Given the description of an element on the screen output the (x, y) to click on. 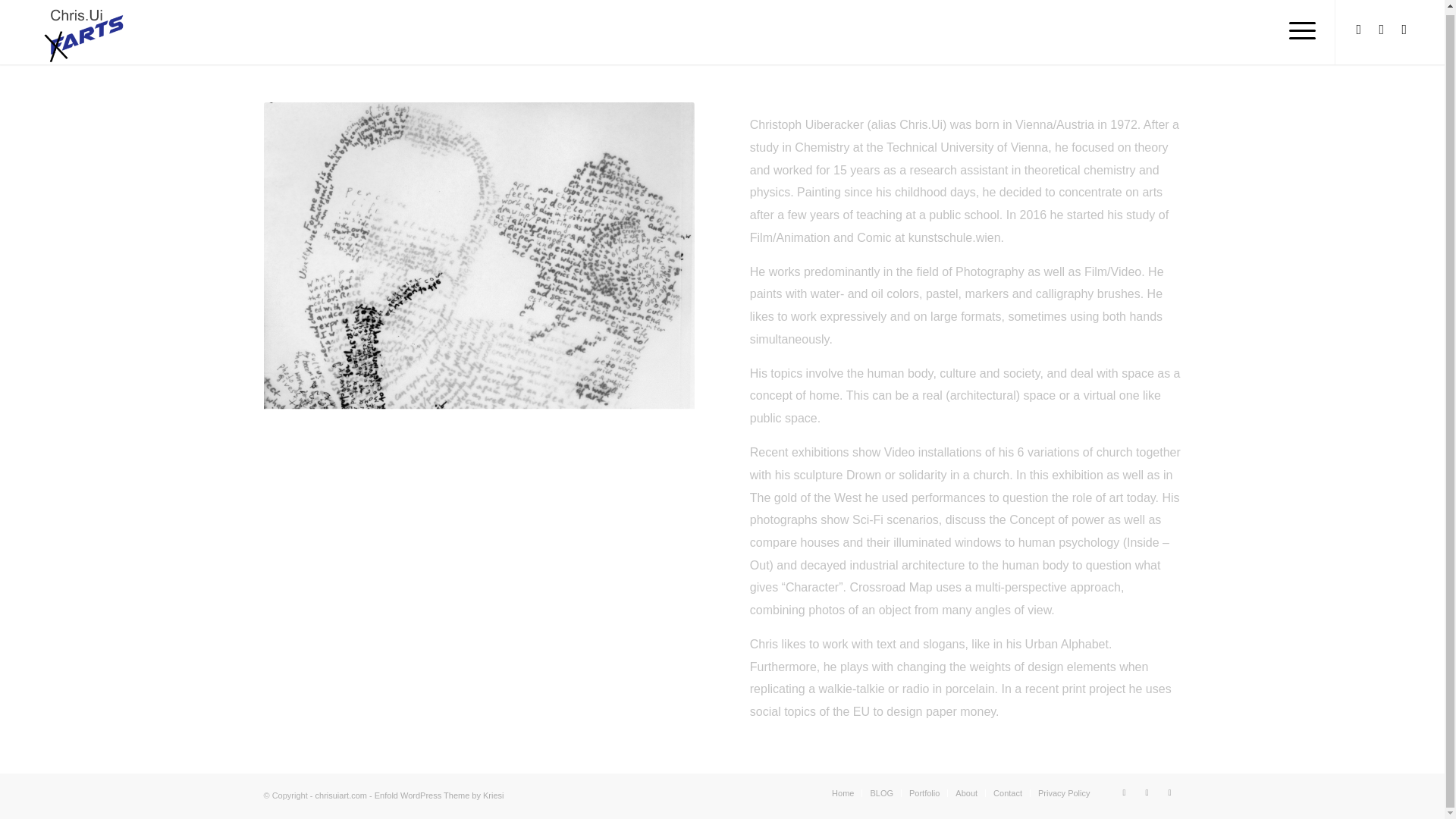
Contact (1007, 792)
Home (842, 792)
Instagram (1381, 29)
Facebook (1359, 29)
Facebook (1124, 792)
Privacy Policy (1063, 792)
About (965, 792)
BLOG (881, 792)
Enfold WordPress Theme by Kriesi (438, 795)
Mail (1169, 792)
